Given the description of an element on the screen output the (x, y) to click on. 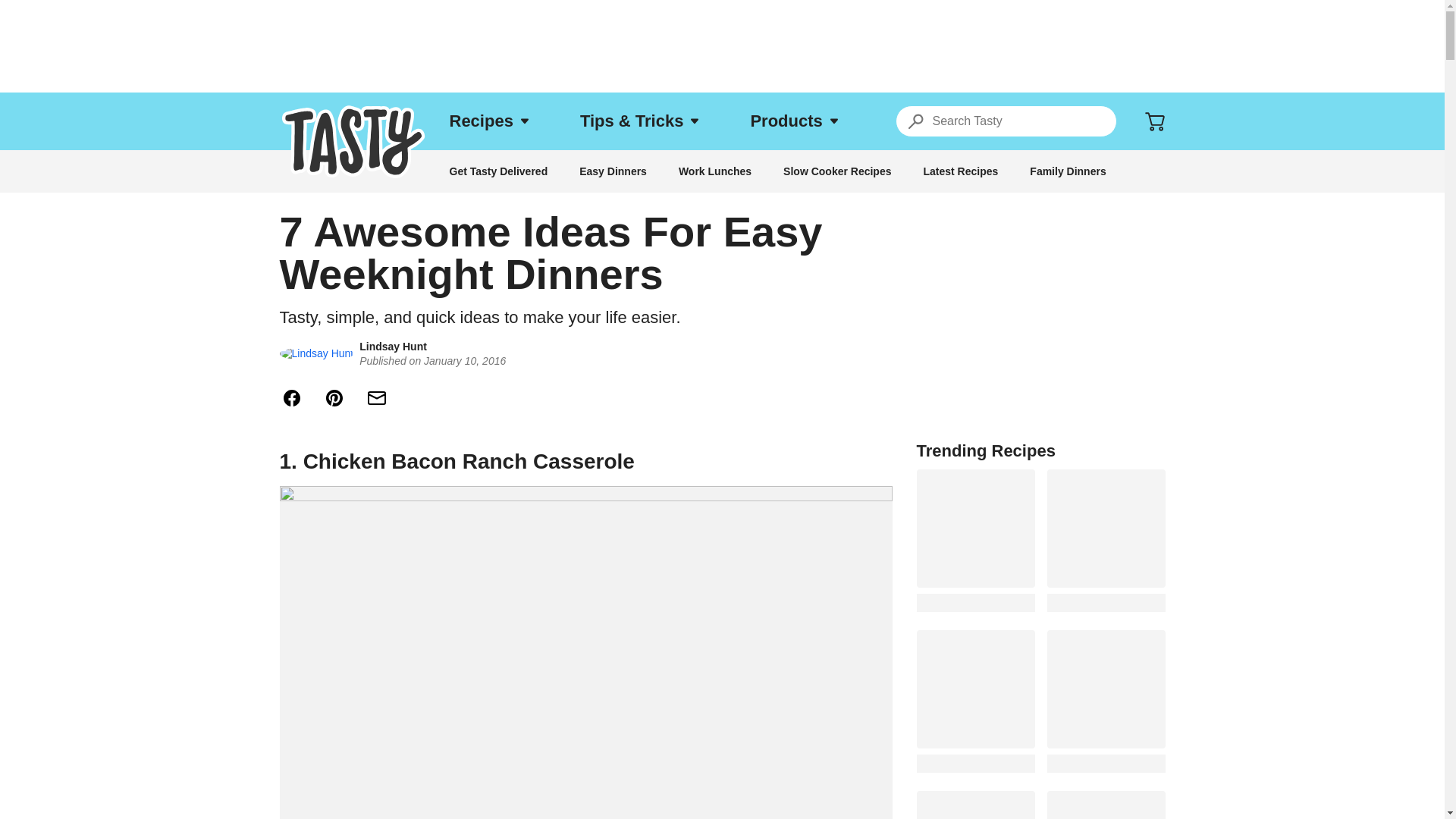
Products (794, 121)
Recipes (488, 121)
